Given the description of an element on the screen output the (x, y) to click on. 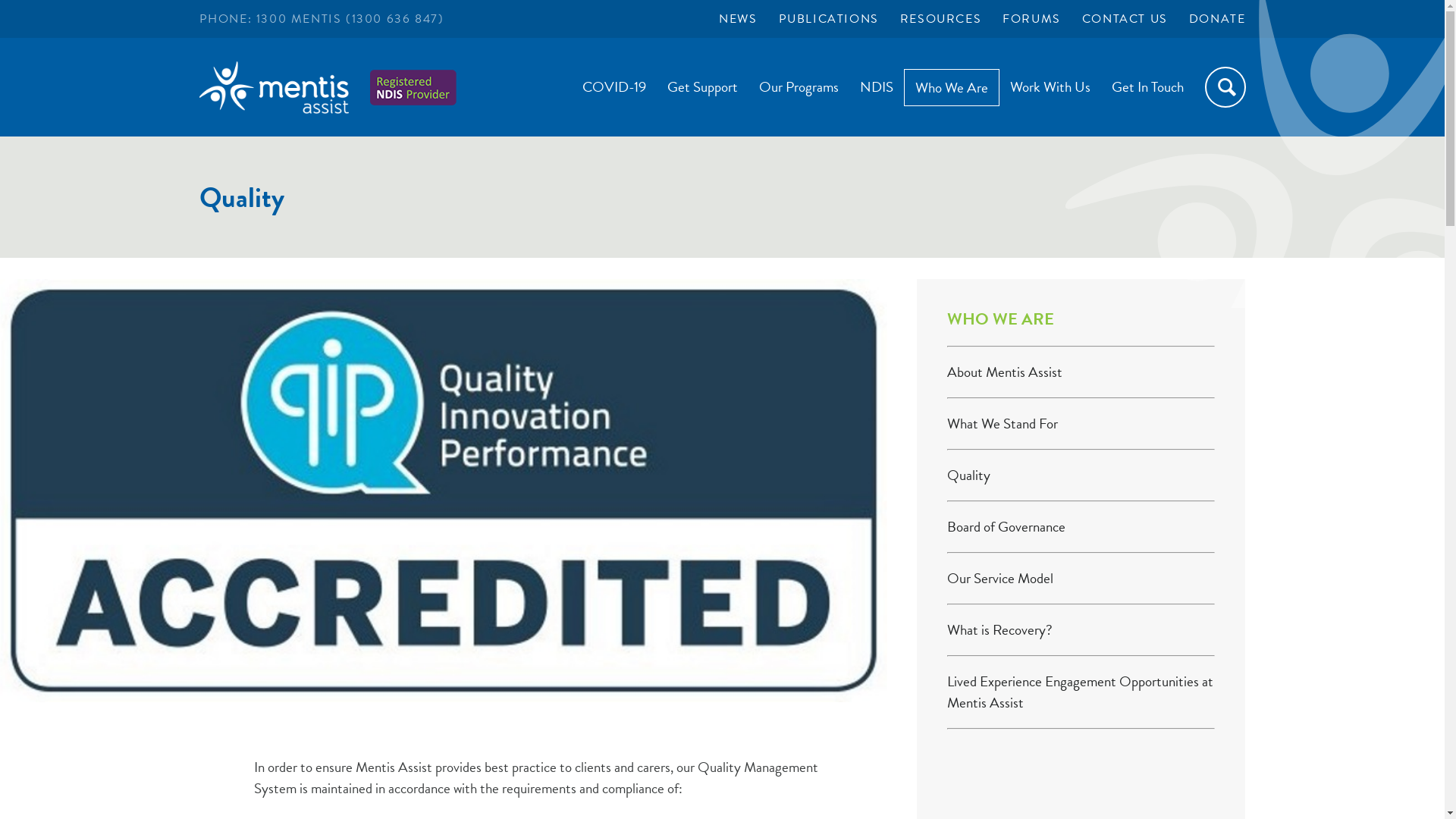
Our Programs Element type: text (797, 85)
Qip Logo 800X380 Element type: hover (443, 490)
Get Support Element type: text (702, 85)
Lived Experience Engagement Opportunities at Mentis Assist Element type: text (1080, 691)
DONATE Element type: text (1217, 18)
Get In Touch Element type: text (1147, 85)
CONTACT US Element type: text (1124, 18)
PUBLICATIONS Element type: text (828, 18)
NEWS Element type: text (737, 18)
WHO WE ARE Element type: text (1000, 318)
Who We Are Element type: text (951, 86)
Registered NDIS Provider Element type: hover (413, 87)
COVID-19 Element type: text (613, 85)
RESOURCES Element type: text (940, 18)
About Mentis Assist Element type: text (1004, 371)
FORUMS Element type: text (1031, 18)
HOME Element type: hover (273, 94)
What is Recovery? Element type: text (999, 629)
Quality Element type: text (968, 475)
What We Stand For Element type: text (1002, 423)
Work With Us Element type: text (1050, 85)
NDIS Element type: text (876, 85)
Board of Governance Element type: text (1006, 526)
Our Service Model Element type: text (1000, 578)
